Given the description of an element on the screen output the (x, y) to click on. 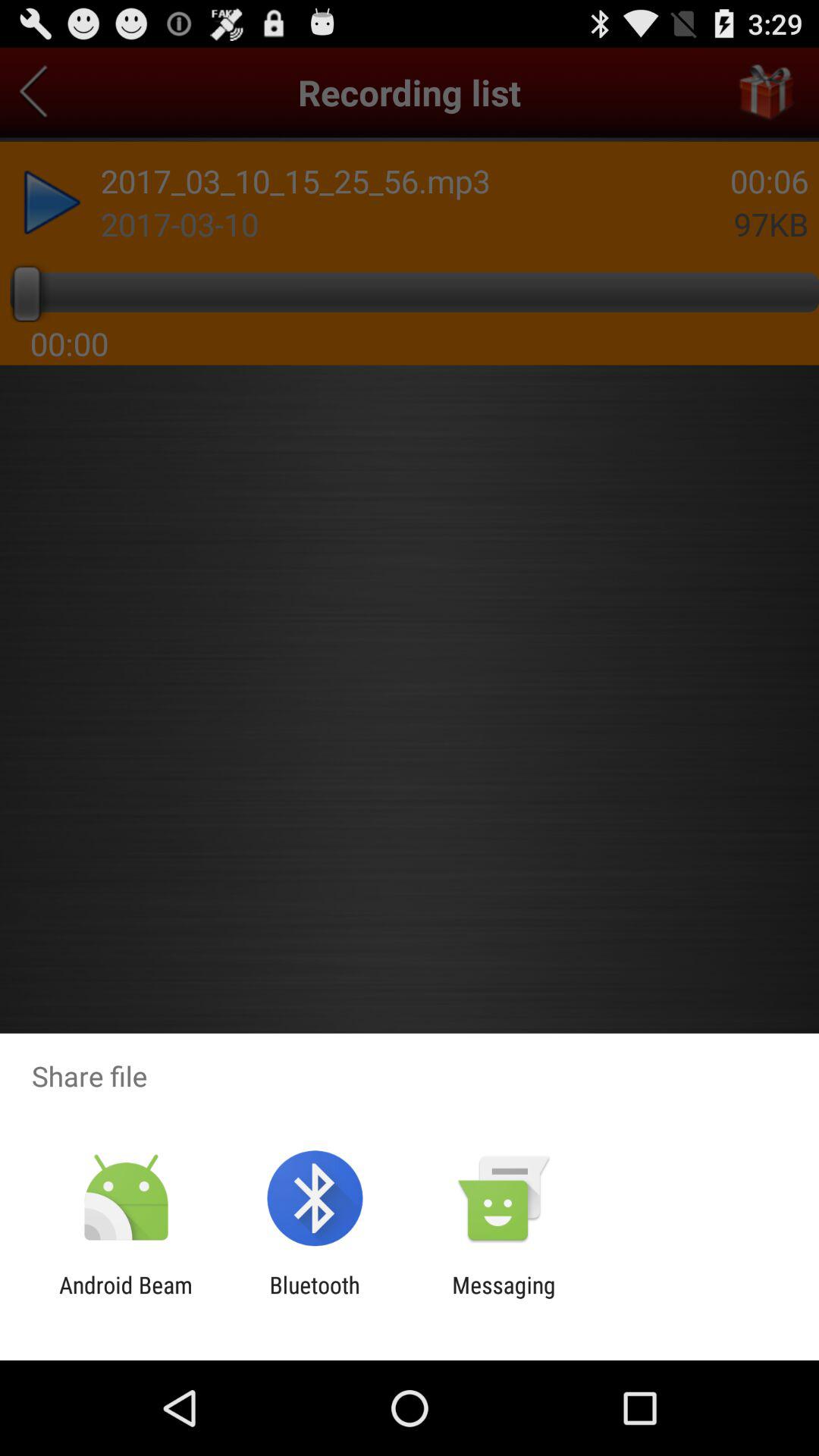
turn on icon next to android beam icon (314, 1298)
